Given the description of an element on the screen output the (x, y) to click on. 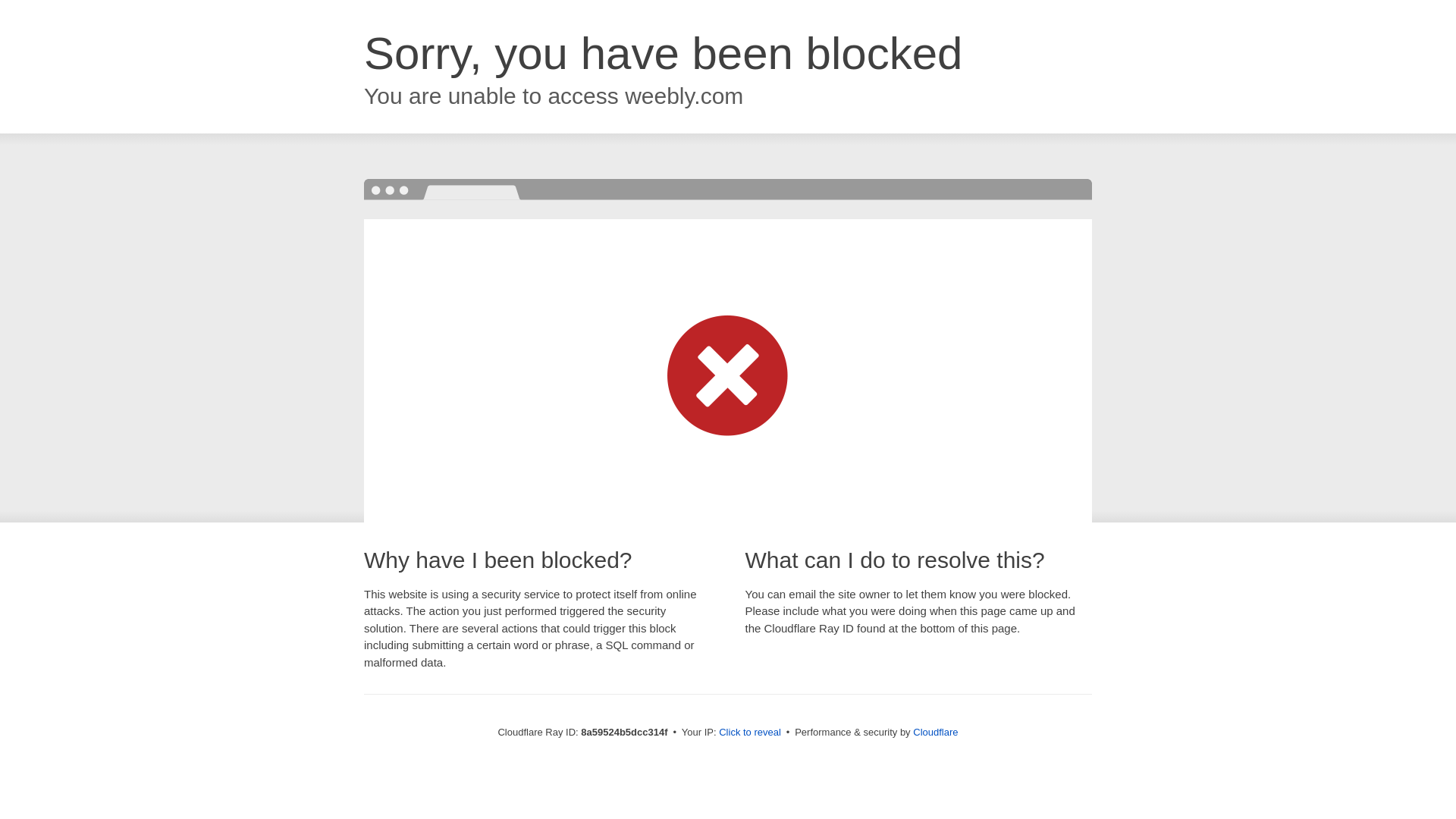
Click to reveal (749, 732)
Cloudflare (935, 731)
